Given the description of an element on the screen output the (x, y) to click on. 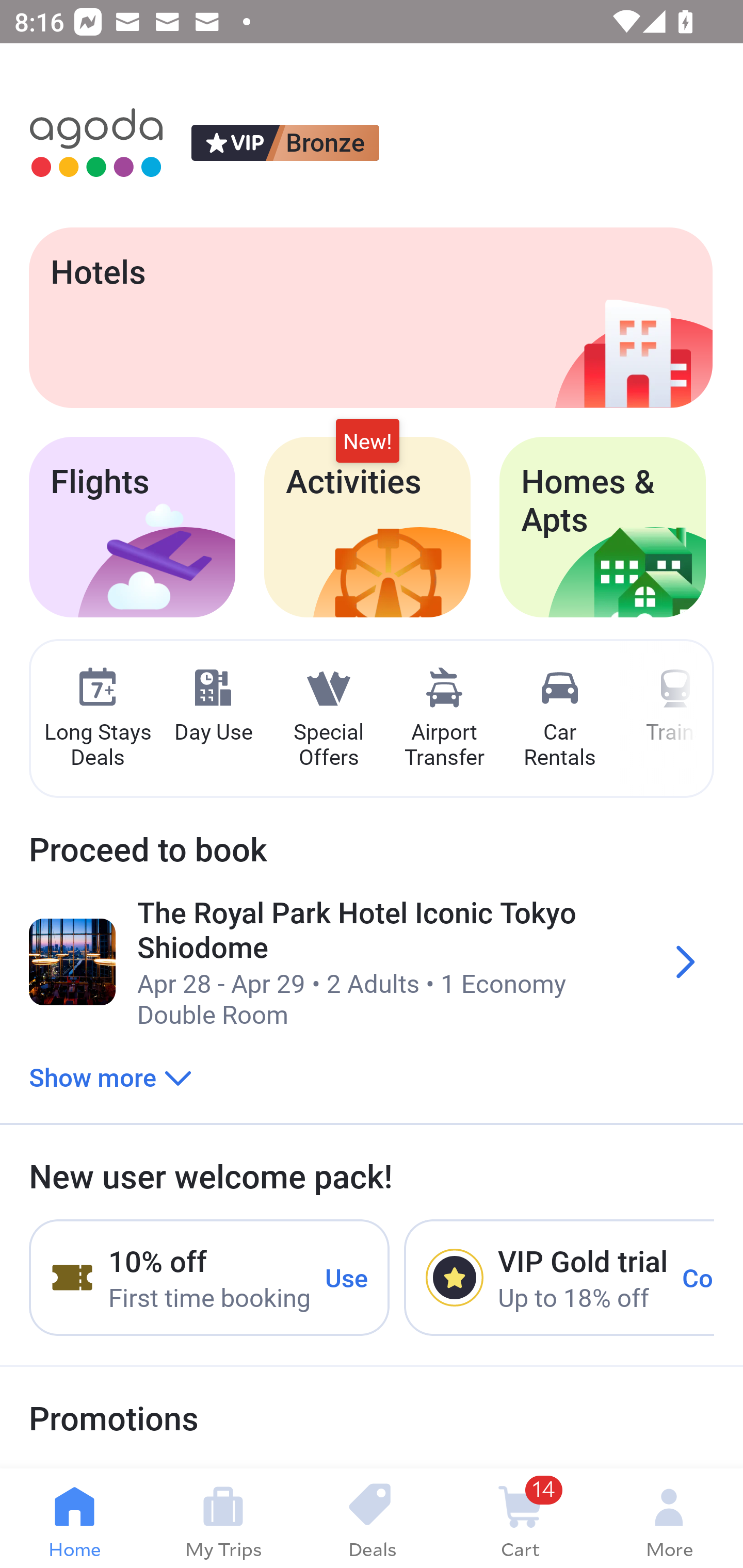
Hotels (370, 317)
New! (367, 441)
Flights (131, 527)
Activities (367, 527)
Homes & Apts (602, 527)
Day Use (213, 706)
Long Stays Deals (97, 718)
Special Offers (328, 718)
Airport Transfer (444, 718)
Car Rentals (559, 718)
Show more (110, 1076)
Use (346, 1277)
Home (74, 1518)
My Trips (222, 1518)
Deals (371, 1518)
14 Cart (519, 1518)
More (668, 1518)
